Given the description of an element on the screen output the (x, y) to click on. 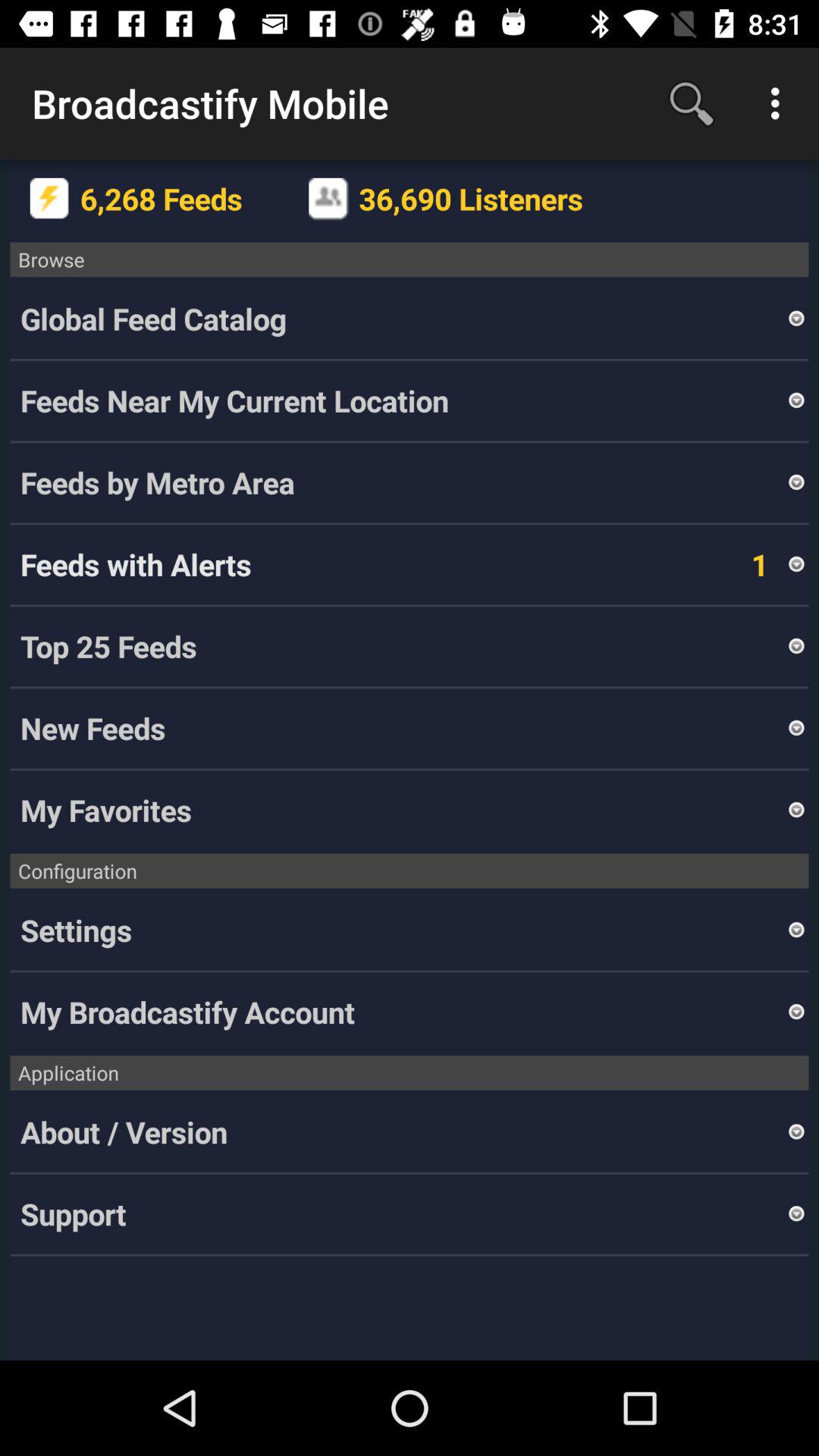
select 36,690 listeners icon (482, 198)
